Given the description of an element on the screen output the (x, y) to click on. 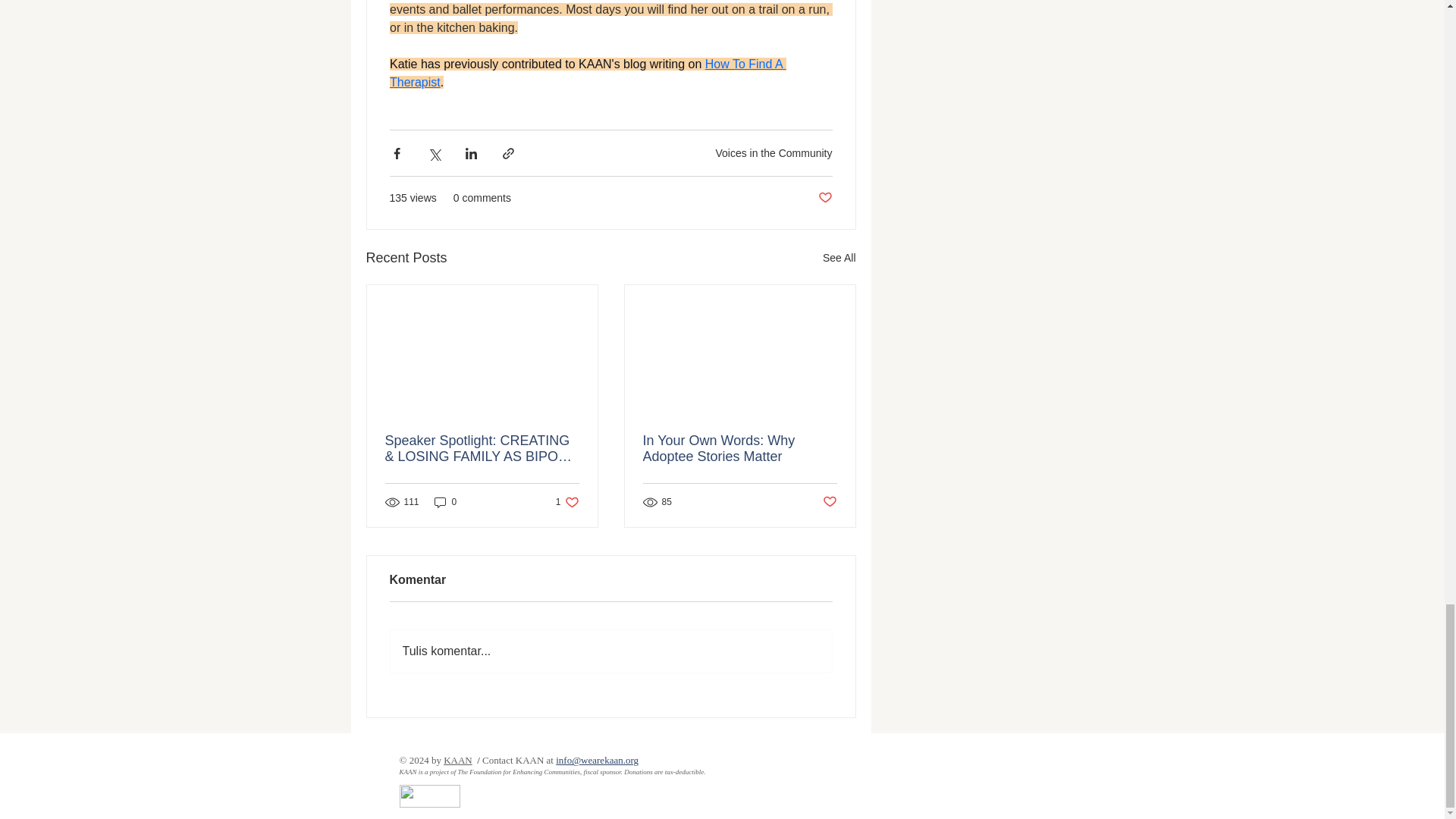
How To Find A Therapist (588, 72)
